Given the description of an element on the screen output the (x, y) to click on. 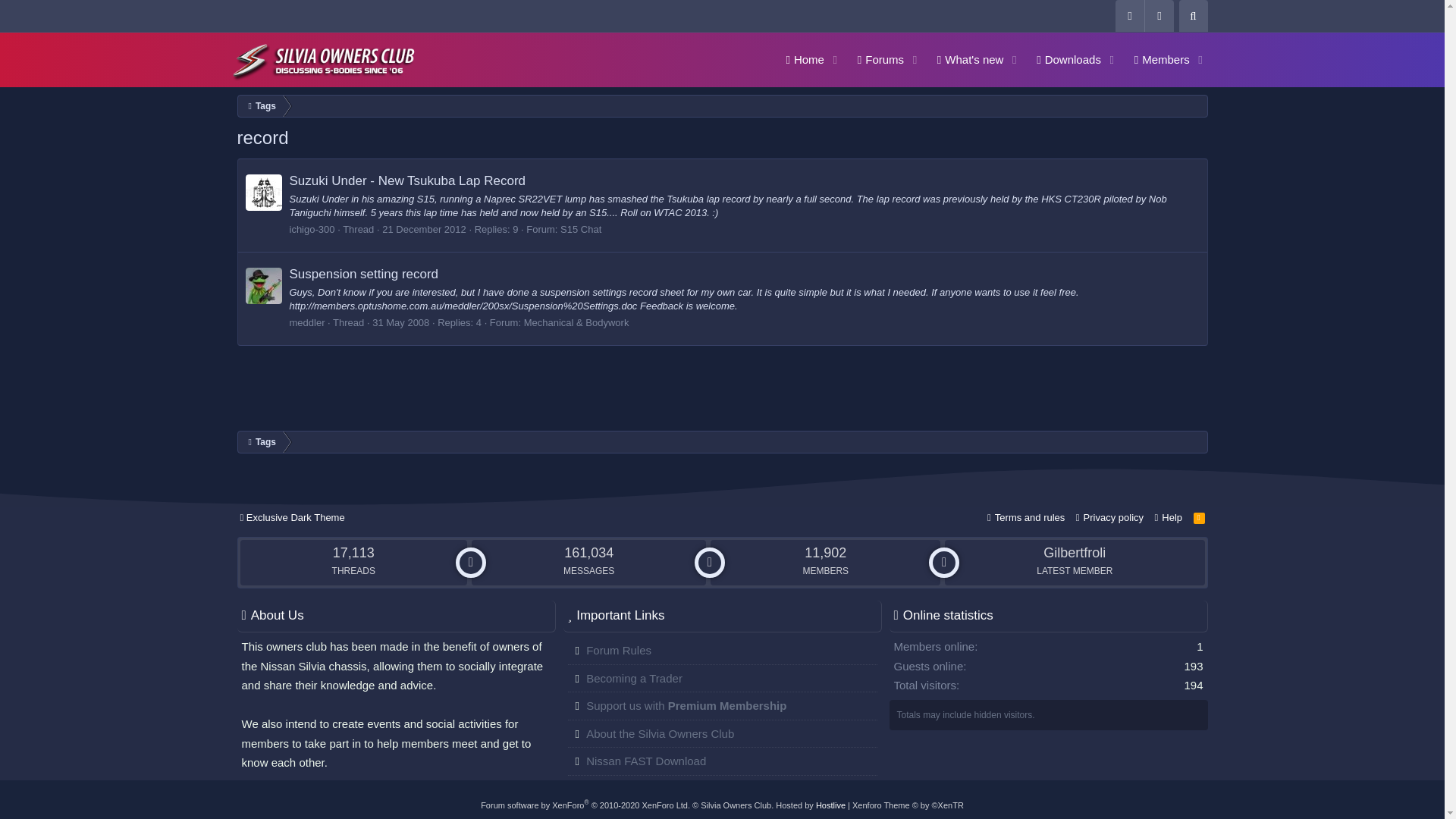
Home (799, 59)
Members (988, 59)
21 December 2012 at 5:16 PM (1156, 59)
What's new (423, 229)
Forums (988, 76)
Downloads (964, 59)
31 May 2008 at 11:25 AM (875, 59)
Search (1063, 59)
RSS (400, 322)
